Given the description of an element on the screen output the (x, y) to click on. 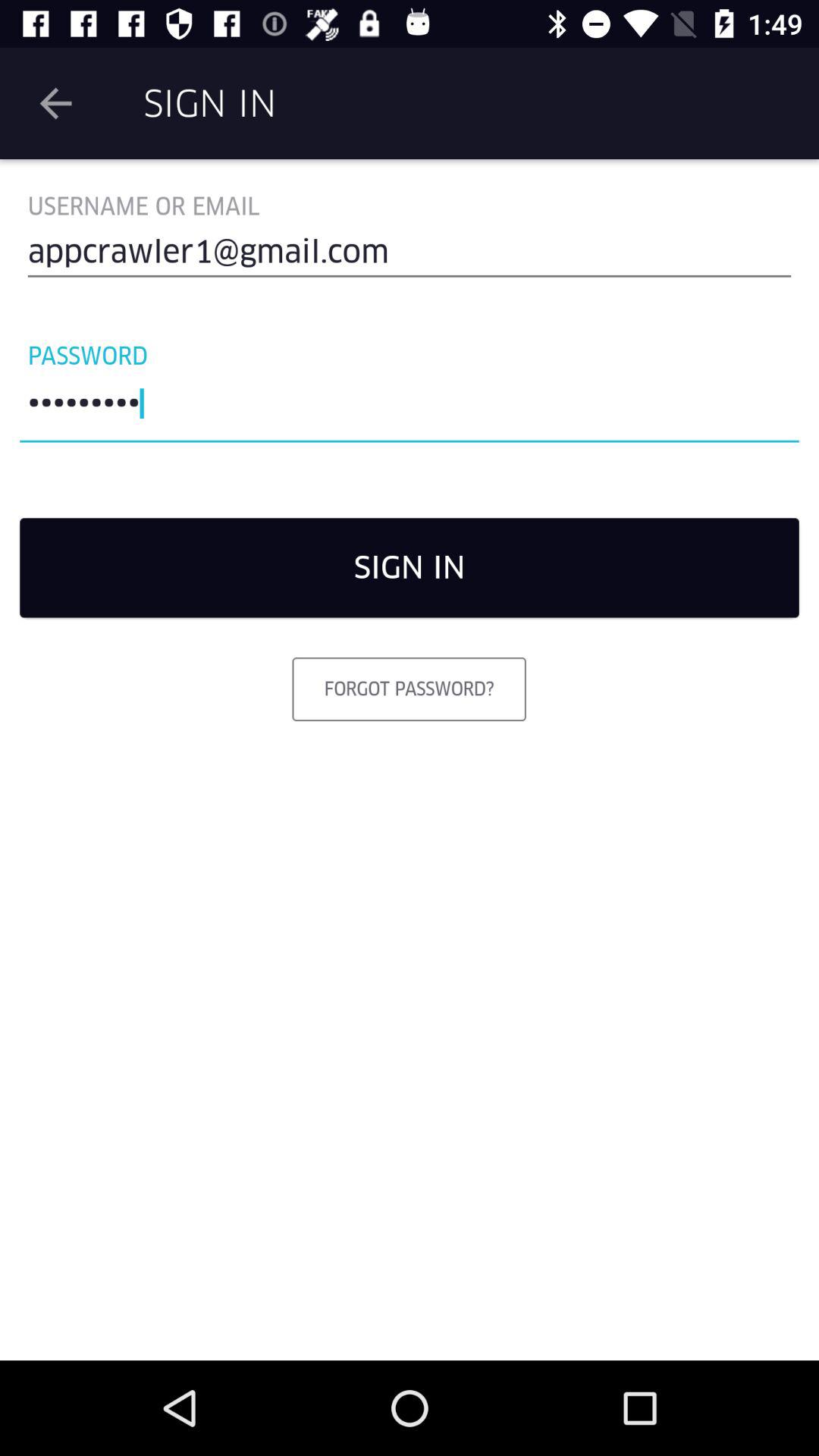
select the item below the password icon (409, 407)
